Given the description of an element on the screen output the (x, y) to click on. 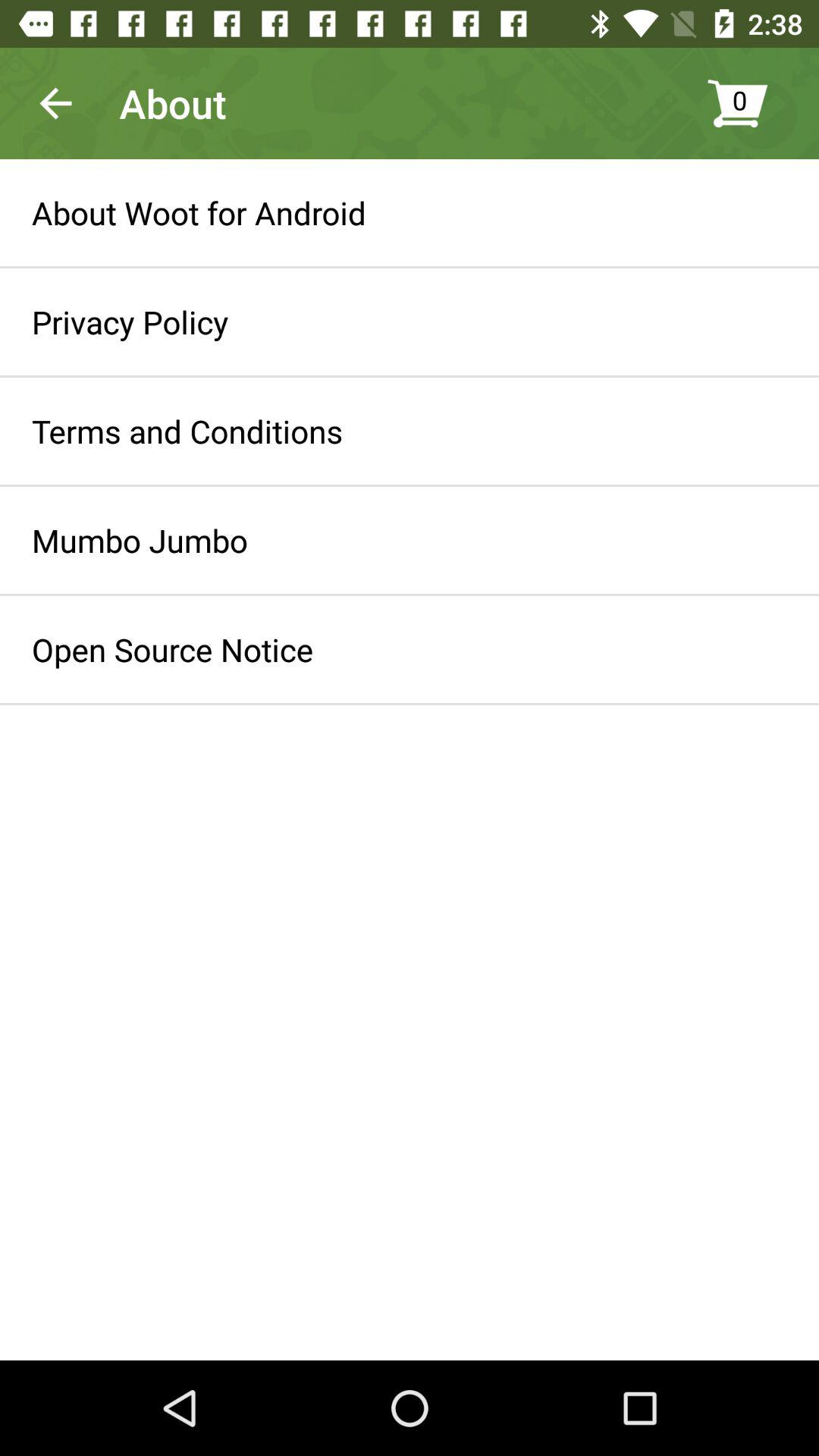
scroll to mumbo jumbo item (139, 539)
